Given the description of an element on the screen output the (x, y) to click on. 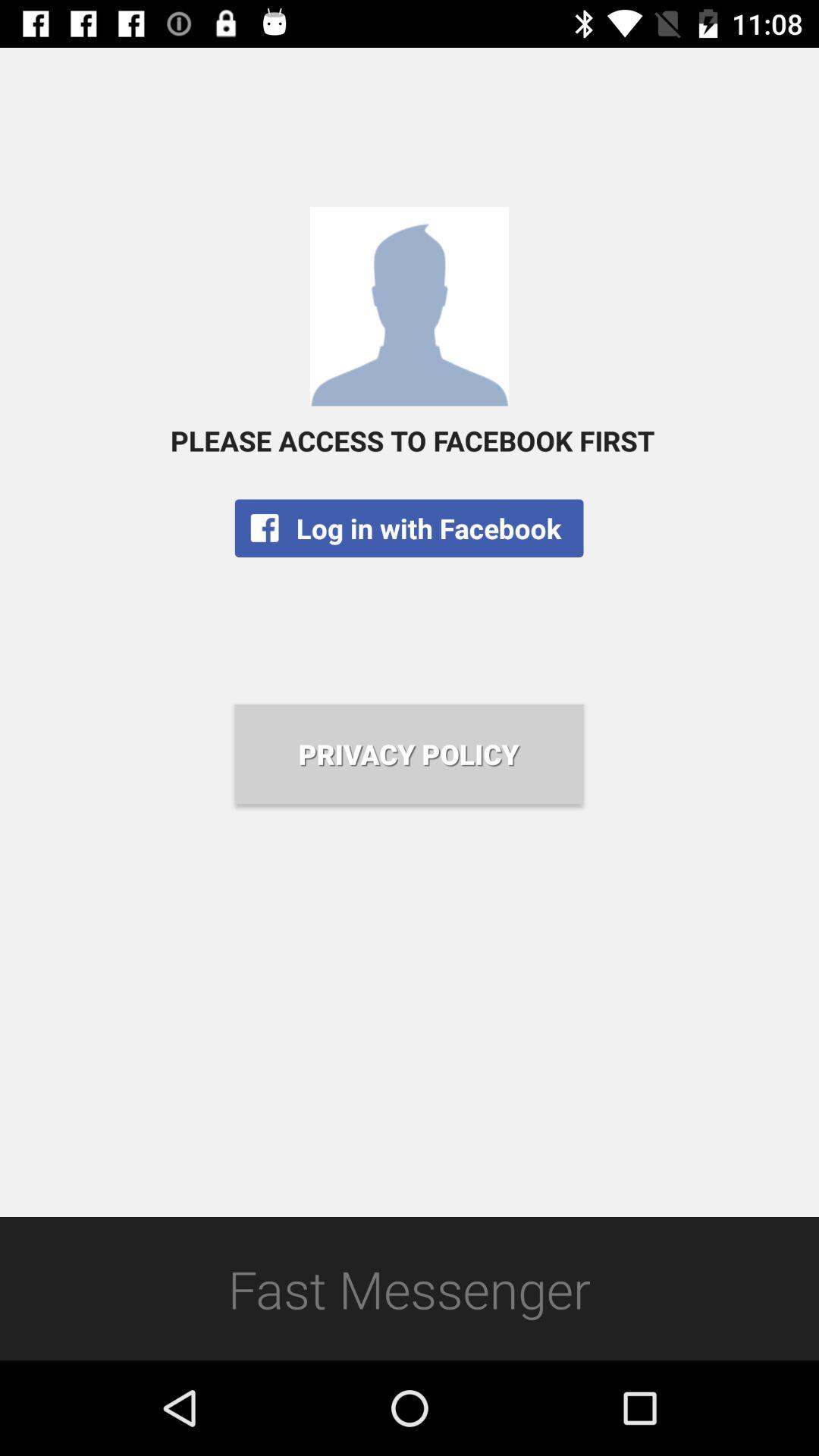
choose the log in with (408, 528)
